Given the description of an element on the screen output the (x, y) to click on. 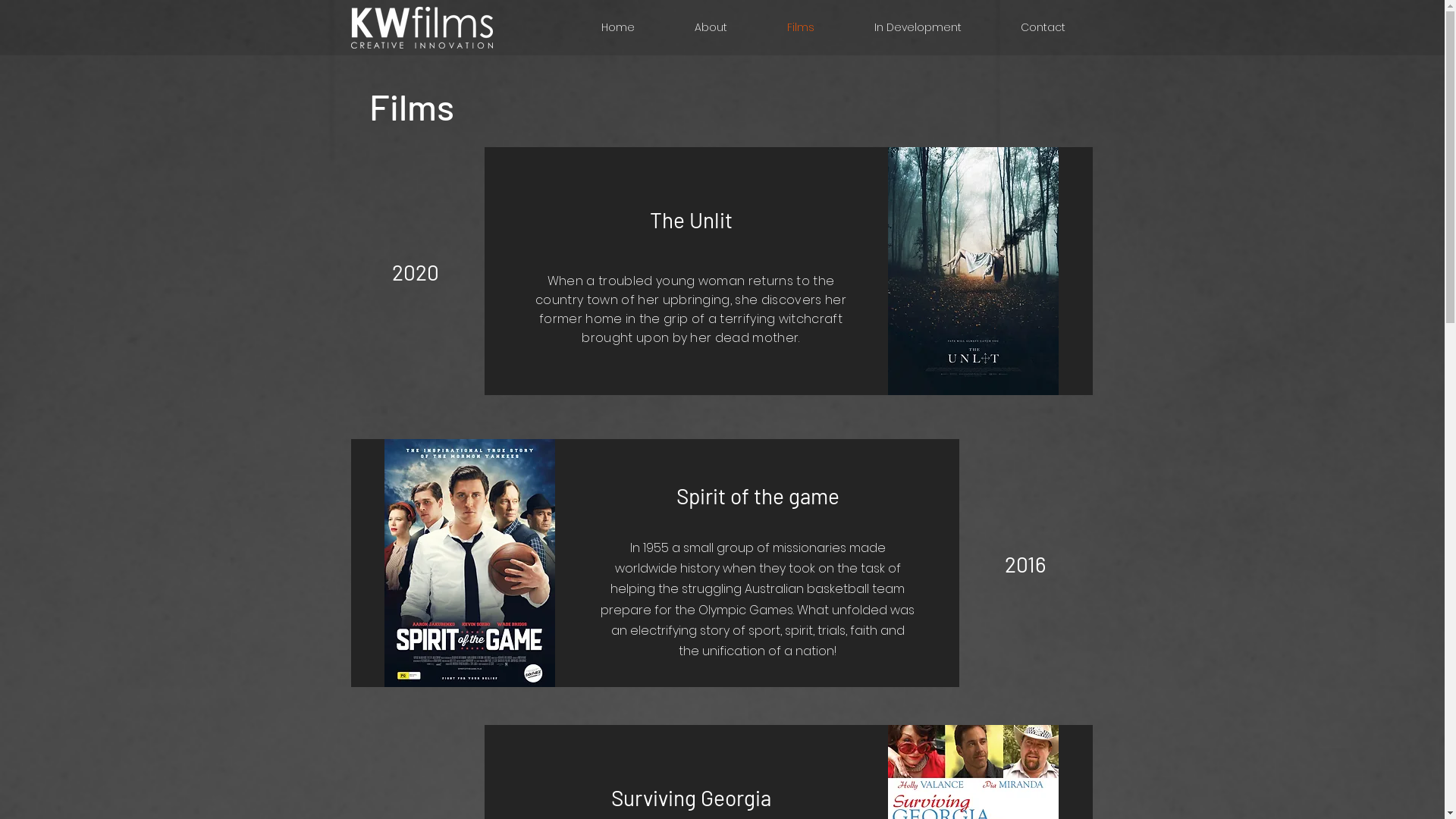
Films Element type: text (800, 26)
Surviving Georgia Element type: text (691, 797)
The Unlit Element type: text (690, 219)
Home Element type: text (618, 26)
Contact Element type: text (1042, 26)
Spirit of the game Element type: text (757, 495)
In Development Element type: text (917, 26)
About Element type: text (710, 26)
